Given the description of an element on the screen output the (x, y) to click on. 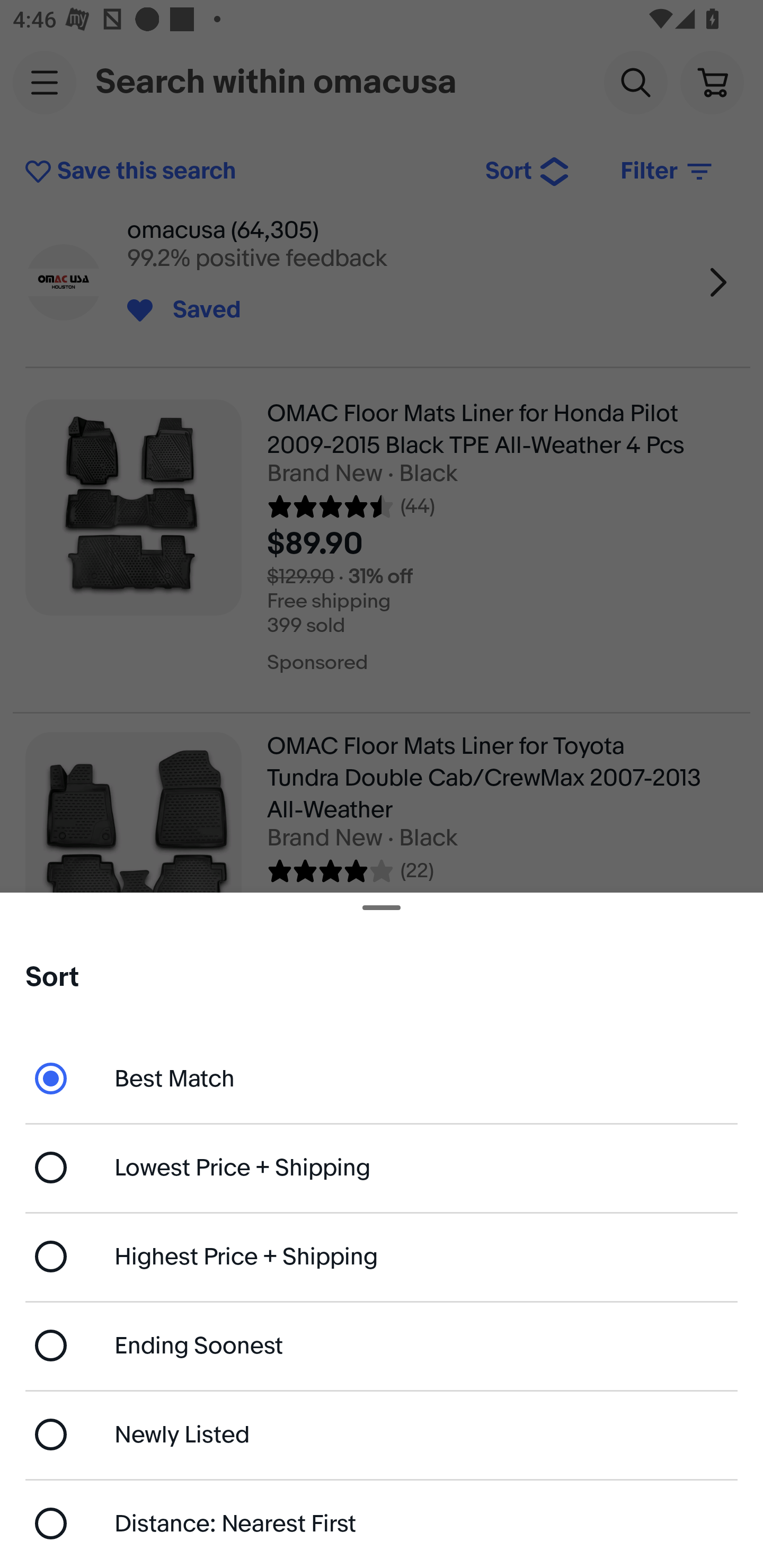
Best Match - currently selected Best Match (381, 1077)
Lowest Price + Shipping (381, 1167)
Highest Price + Shipping (381, 1256)
Ending Soonest (381, 1345)
Newly Listed (381, 1433)
Distance: Nearest First (381, 1523)
